Given the description of an element on the screen output the (x, y) to click on. 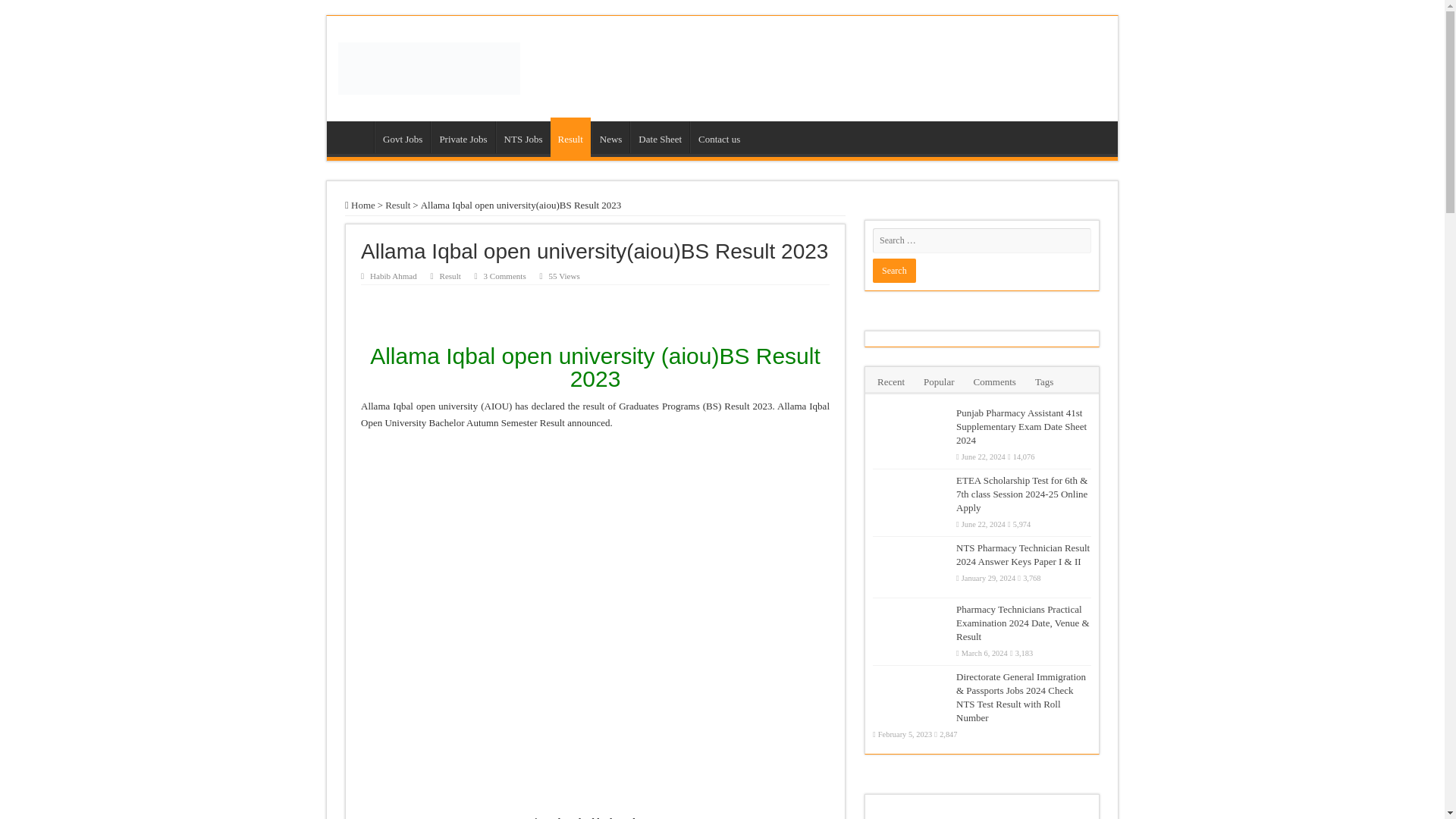
Home (360, 204)
Date Sheet (659, 137)
Search (893, 270)
Contact us (719, 137)
NTS Jobs (523, 137)
Home (354, 137)
Latest NTS Jobs Online (428, 65)
Search (893, 270)
Result (450, 275)
News (610, 137)
Result (397, 204)
Result (570, 137)
3 Comments (504, 275)
Habib Ahmad (392, 275)
Govt Jobs (401, 137)
